Given the description of an element on the screen output the (x, y) to click on. 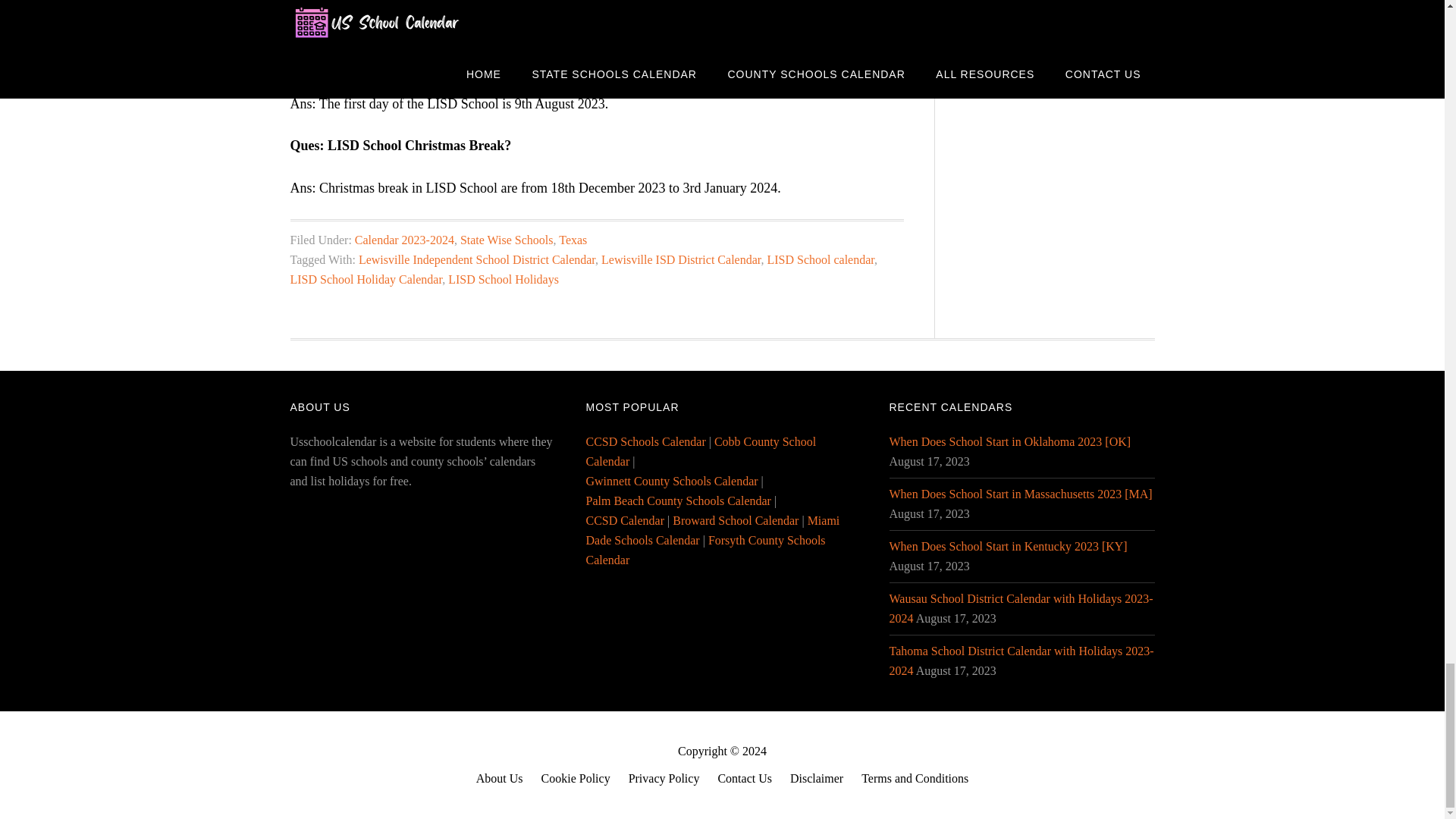
CCSD Schools Calendar (644, 440)
Texas (572, 239)
LISD School calendar (821, 259)
LISD School Holidays (503, 278)
State Wise Schools (506, 239)
Gwinnett County Schools Calendar (671, 481)
Cobb County School Calendar (700, 450)
Calendar 2023-2024 (404, 239)
Forsyth County Schools Calendar (705, 549)
Lewisville Independent School District Calendar (476, 259)
Lewisville ISD District Calendar (680, 259)
Palm Beach County Schools Calendar (677, 500)
LISD School Holiday Calendar (365, 278)
CCSD Calendar (624, 520)
Broward School Calendar (734, 520)
